Given the description of an element on the screen output the (x, y) to click on. 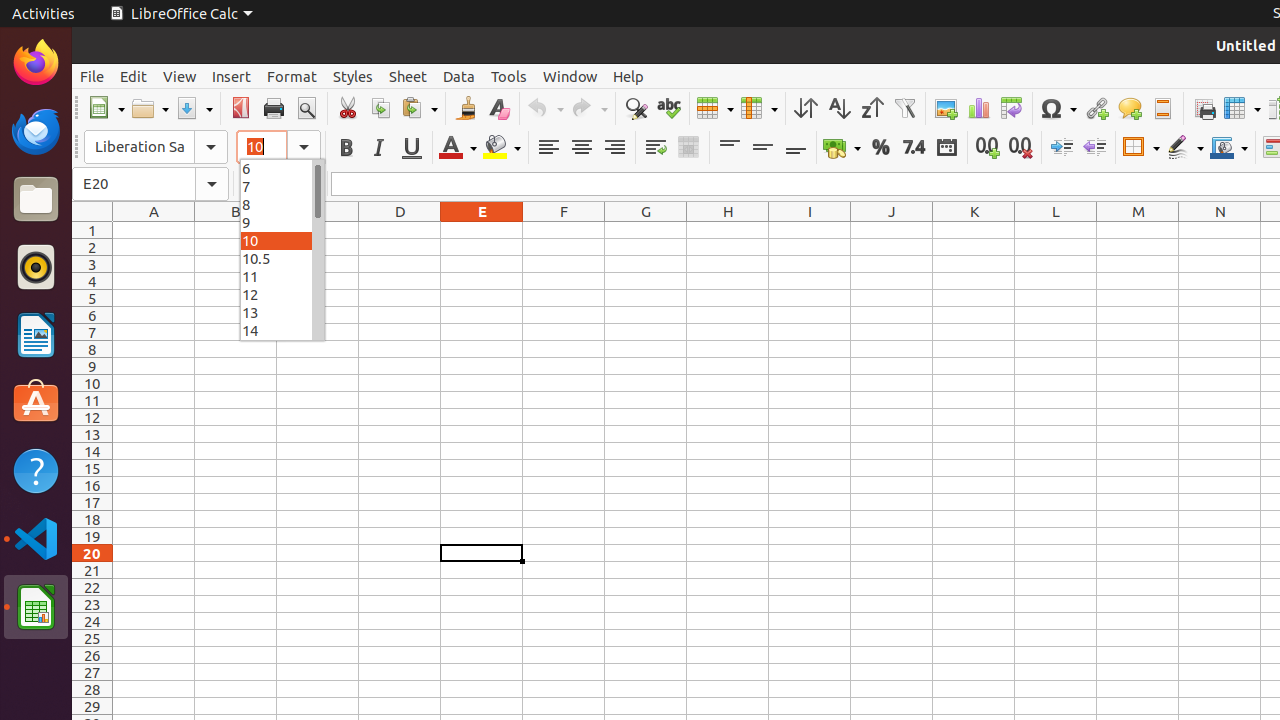
Underline Element type: push-button (411, 147)
10.5 Element type: list-item (282, 258)
Number Element type: push-button (913, 147)
Date Element type: push-button (946, 147)
Align Center Element type: push-button (581, 147)
